Given the description of an element on the screen output the (x, y) to click on. 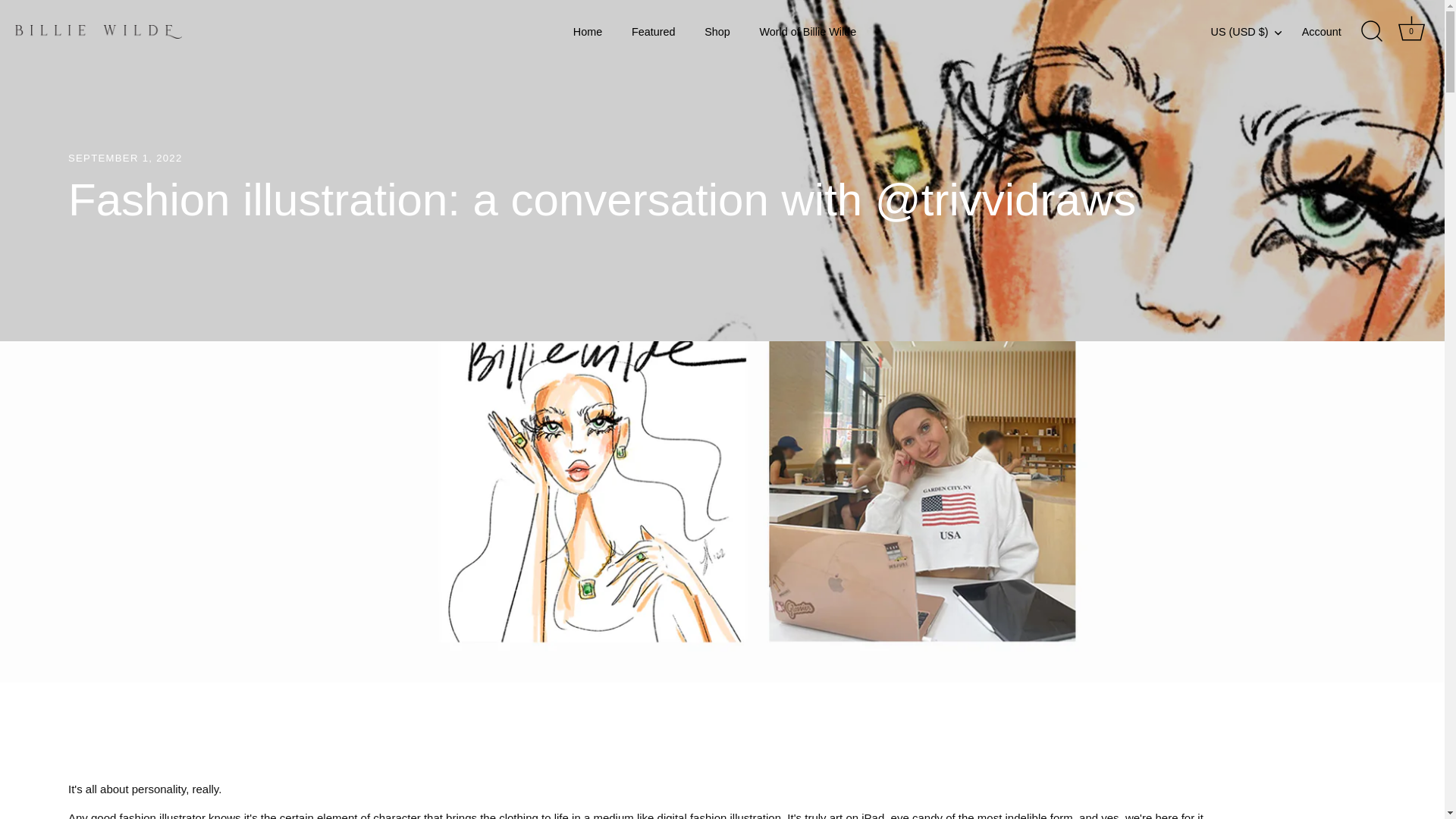
Shop (716, 31)
Featured (653, 31)
Home (587, 31)
Cart (1411, 28)
World of Billie Wilde (807, 31)
